Given the description of an element on the screen output the (x, y) to click on. 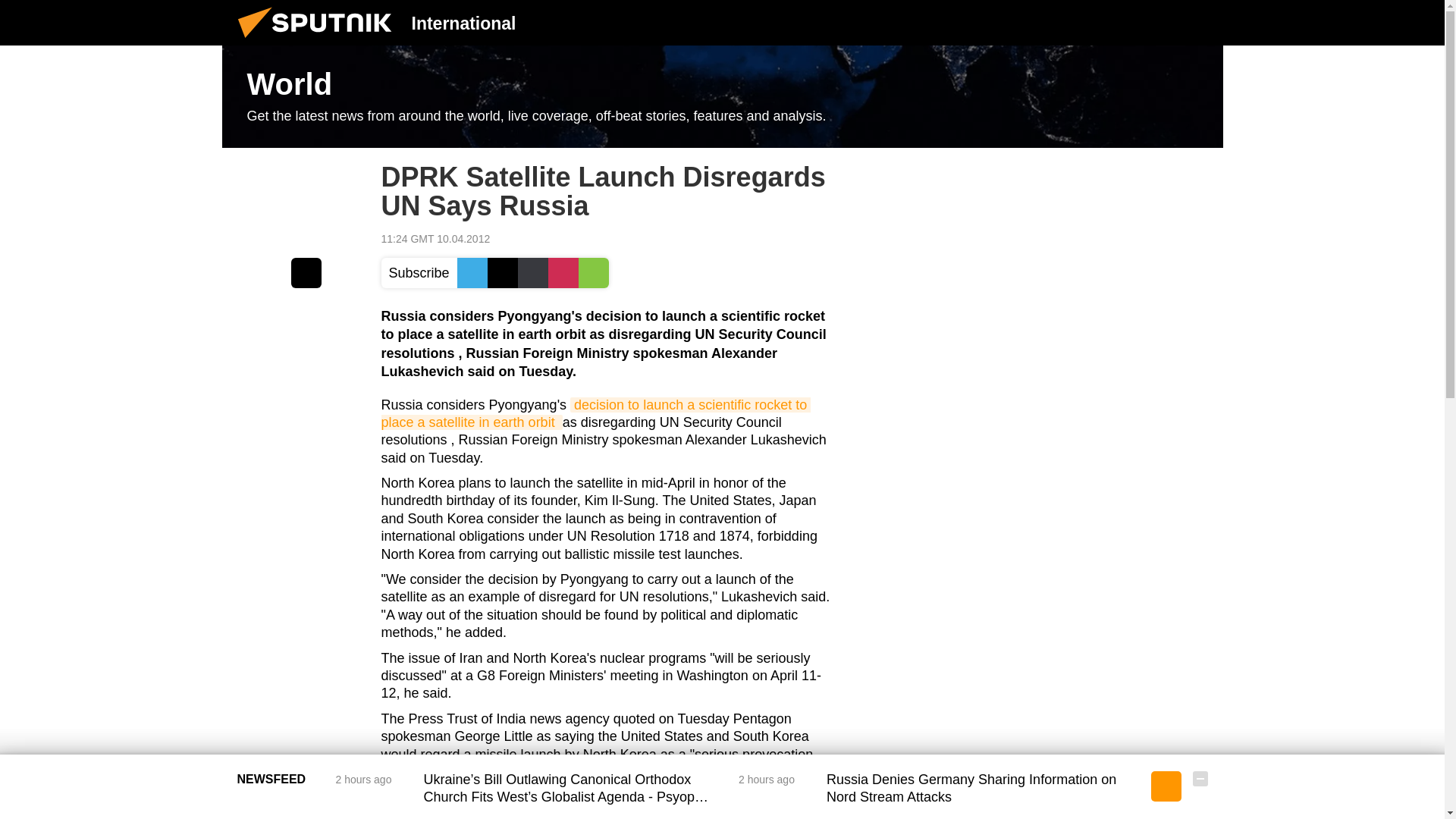
Chats (1199, 22)
Sputnik International (319, 41)
Authorization (1123, 22)
World (722, 96)
